Given the description of an element on the screen output the (x, y) to click on. 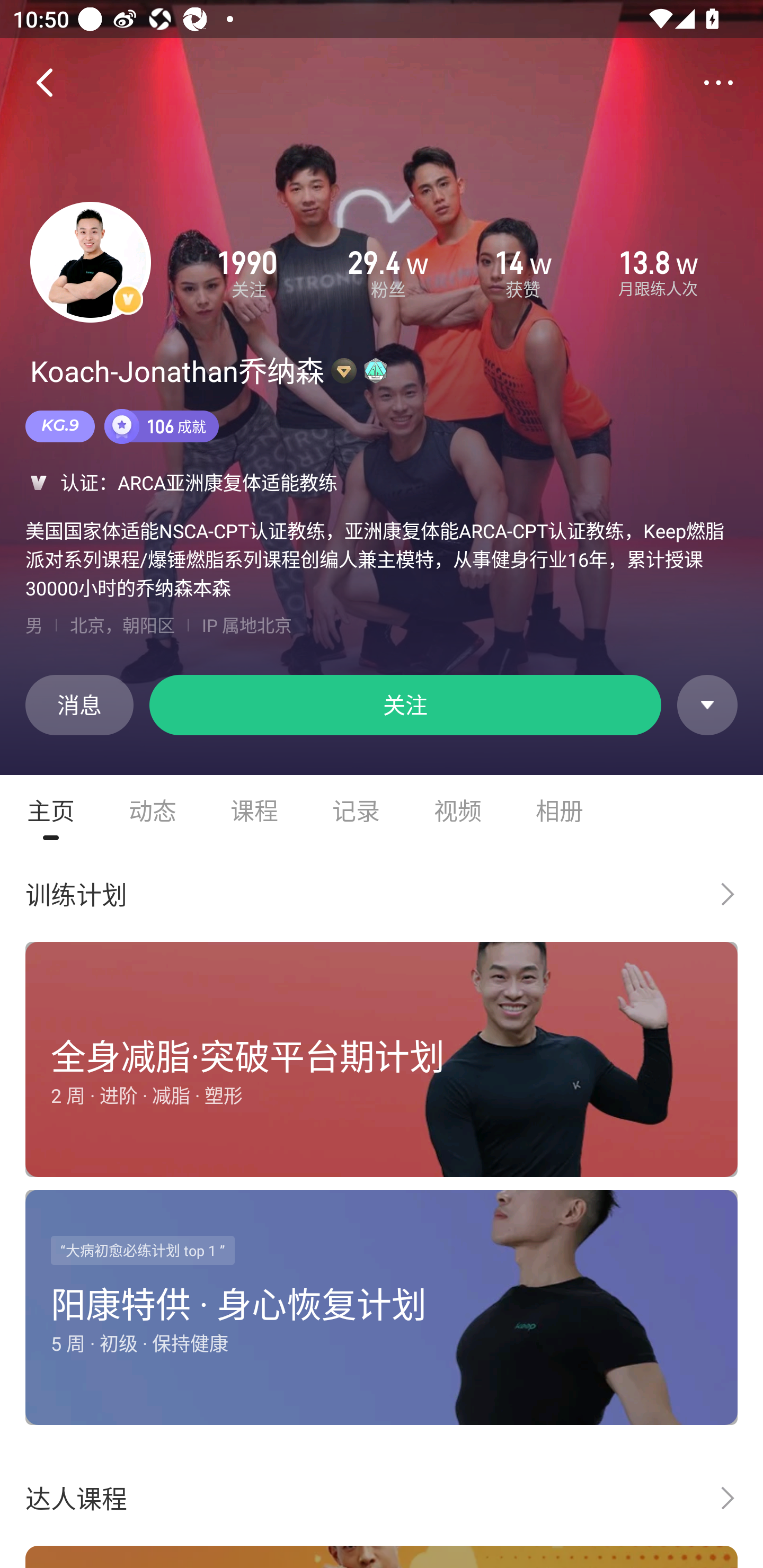
106 成就 (161, 426)
认证： ARCA亚洲康复体适能教练 (381, 481)
消息 (79, 704)
关注 (405, 704)
主页 (50, 810)
动态 (152, 810)
课程 (254, 810)
记录 (355, 810)
视频 (457, 810)
相册 (559, 810)
训练计划 更多 (381, 894)
全身减脂·突破平台期计划 2 周 · 进阶 · 减脂 · 塑形 (381, 1062)
“大病初愈必练计划 top 1 ” 阳康特供 · 身心恢复计划 5 周 · 初级 · 保持健康 (381, 1310)
达人课程 更多 (381, 1498)
